Given the description of an element on the screen output the (x, y) to click on. 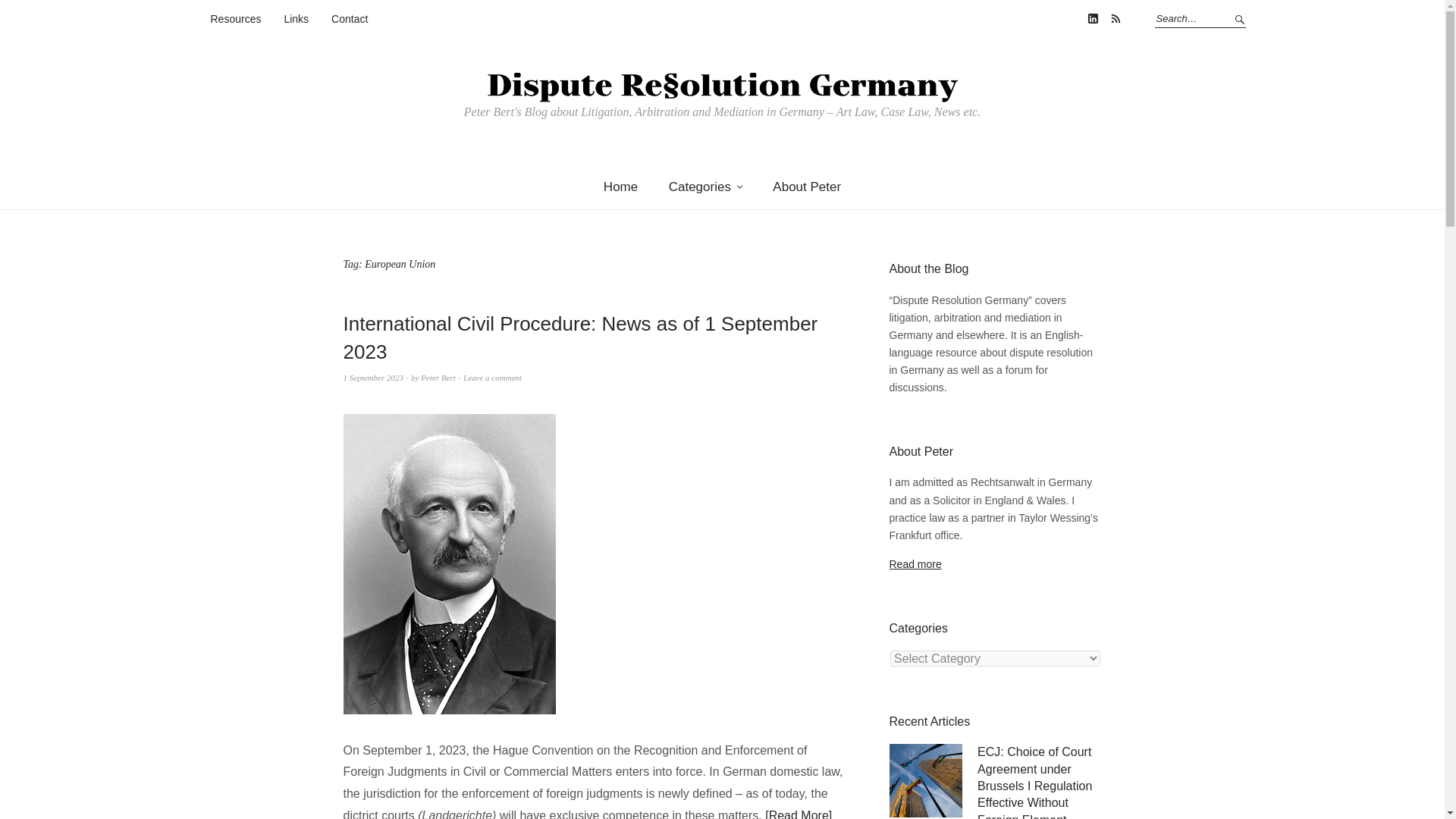
Contact (349, 19)
RSS Feed (1114, 18)
About Peter (806, 186)
Leave a comment (492, 377)
Peter Bert (437, 377)
Links (295, 19)
Read More (798, 814)
Categories (705, 186)
1 September 2023 (372, 377)
LinkedIn (1092, 18)
Resources (236, 19)
International Civil Procedure: News as of 1 September 2023 (579, 337)
All posts by Peter Bert (437, 377)
Home (619, 186)
